Given the description of an element on the screen output the (x, y) to click on. 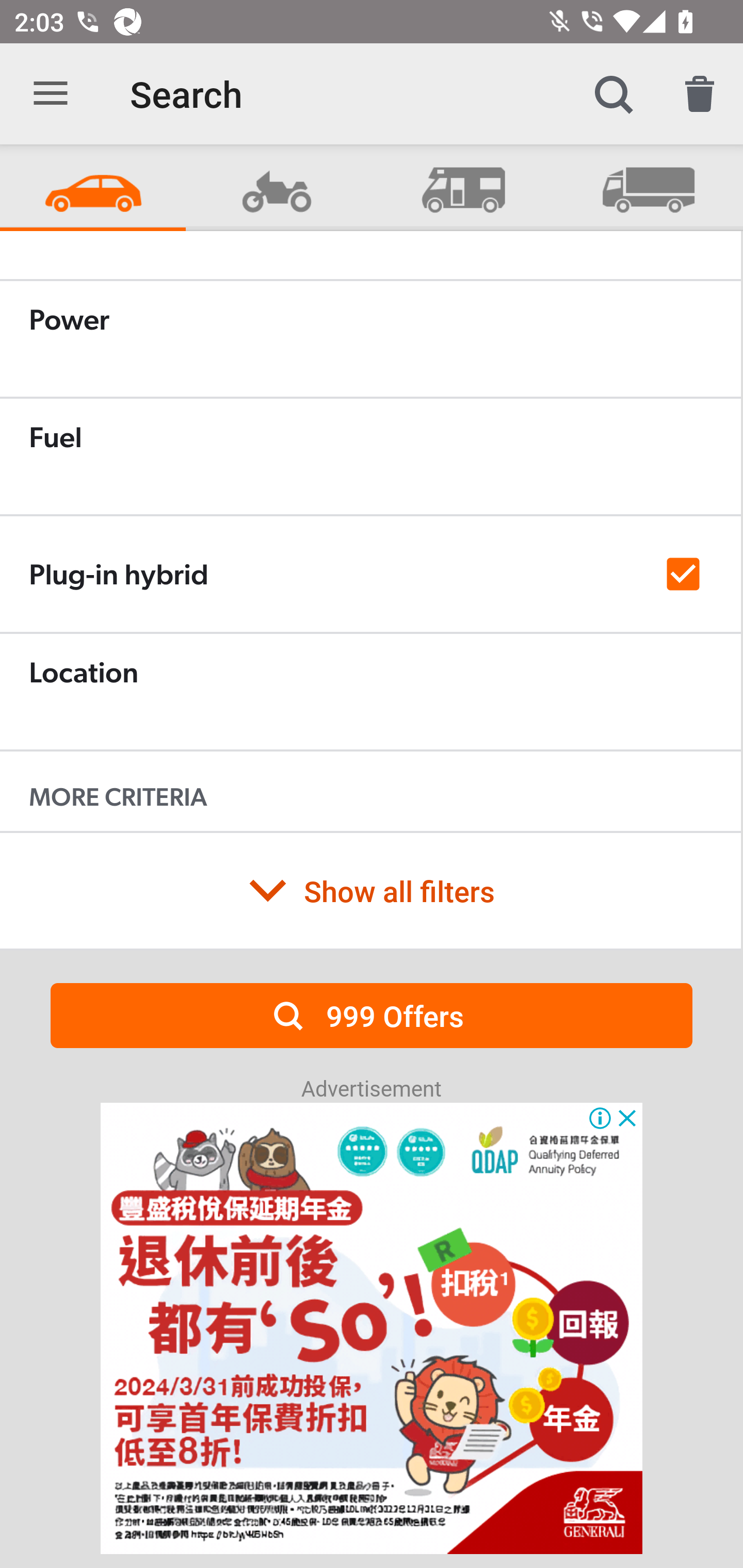
Open navigation bar (50, 93)
Search (612, 93)
Reset search (699, 93)
Power (370, 338)
Fuel (370, 456)
Plug-in hybrid (370, 573)
Plug-in hybrid (369, 574)
Location (370, 691)
Show all filters (370, 890)
999 Offers (371, 1015)
